Given the description of an element on the screen output the (x, y) to click on. 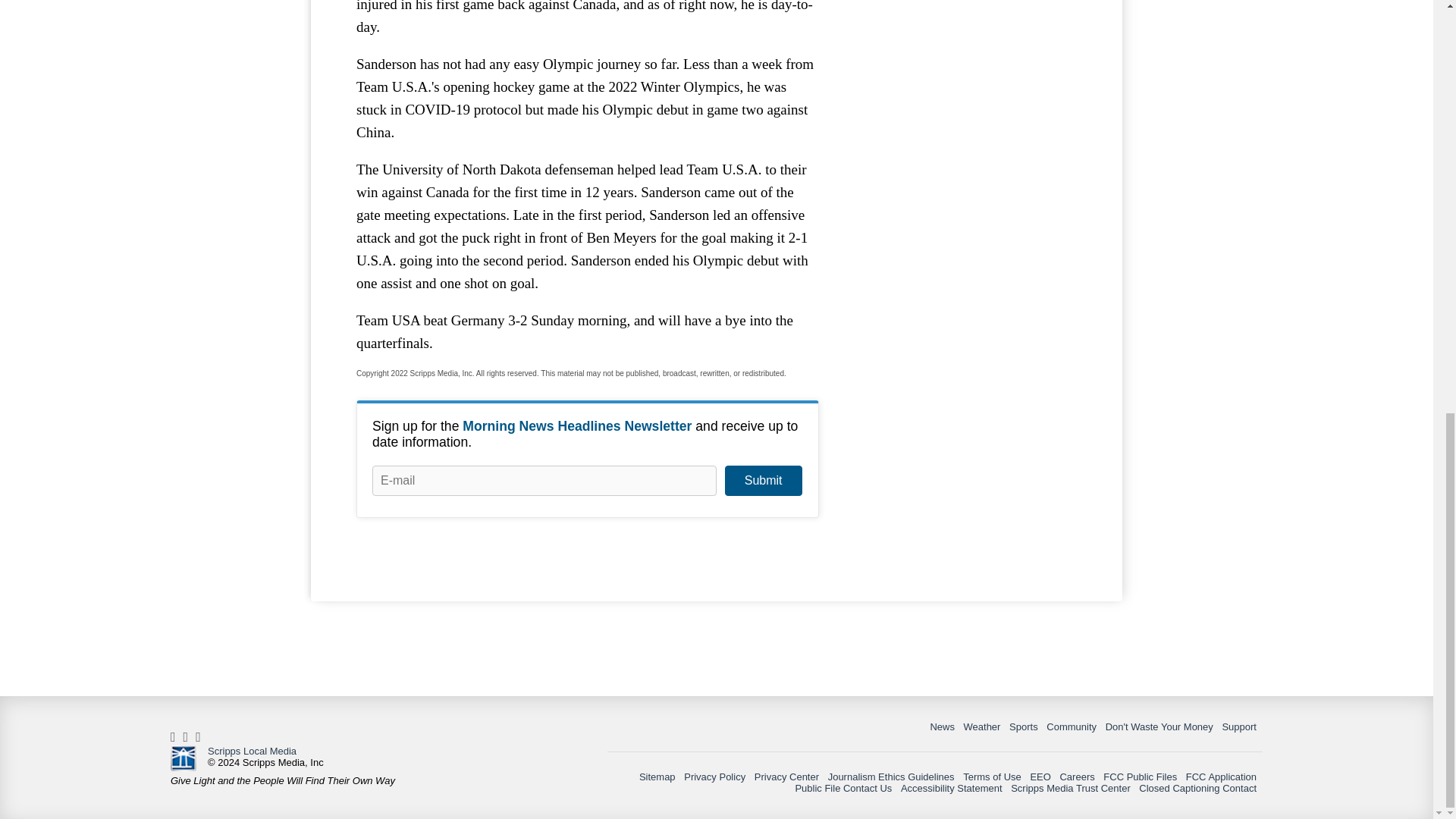
Submit (763, 481)
